Given the description of an element on the screen output the (x, y) to click on. 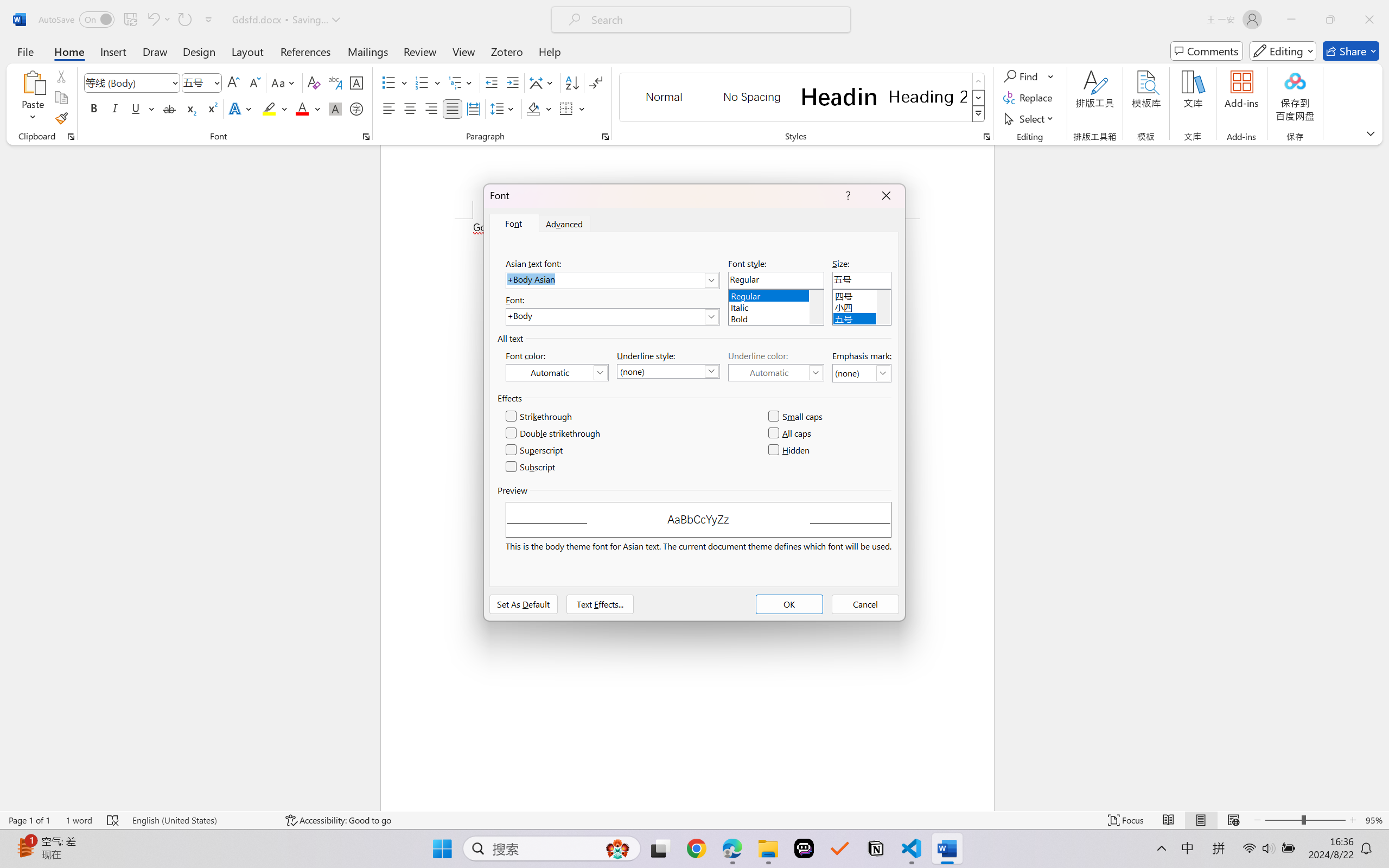
Show/Hide Editing Marks (595, 82)
Align Left (388, 108)
Heading 1 (839, 96)
Subscript (190, 108)
Superscript (210, 108)
Asian text font: (612, 280)
Regular (775, 294)
